Given the description of an element on the screen output the (x, y) to click on. 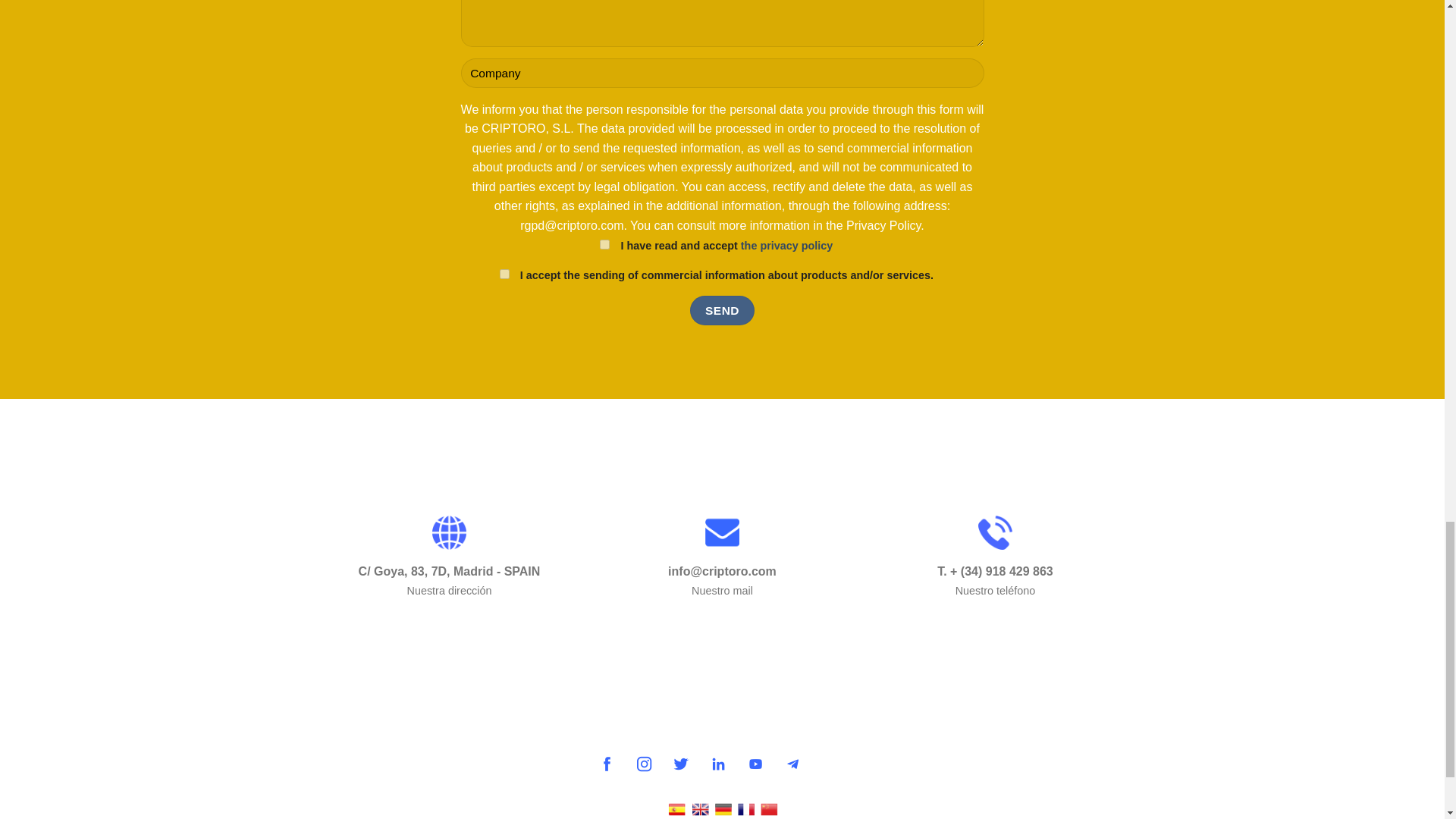
Contacto (653, 632)
the privacy policy (786, 245)
Aviso Legal (454, 690)
Send (722, 310)
1 (504, 274)
Inicio (518, 632)
Nosotros (789, 632)
1 (604, 244)
Send (722, 310)
